Given the description of an element on the screen output the (x, y) to click on. 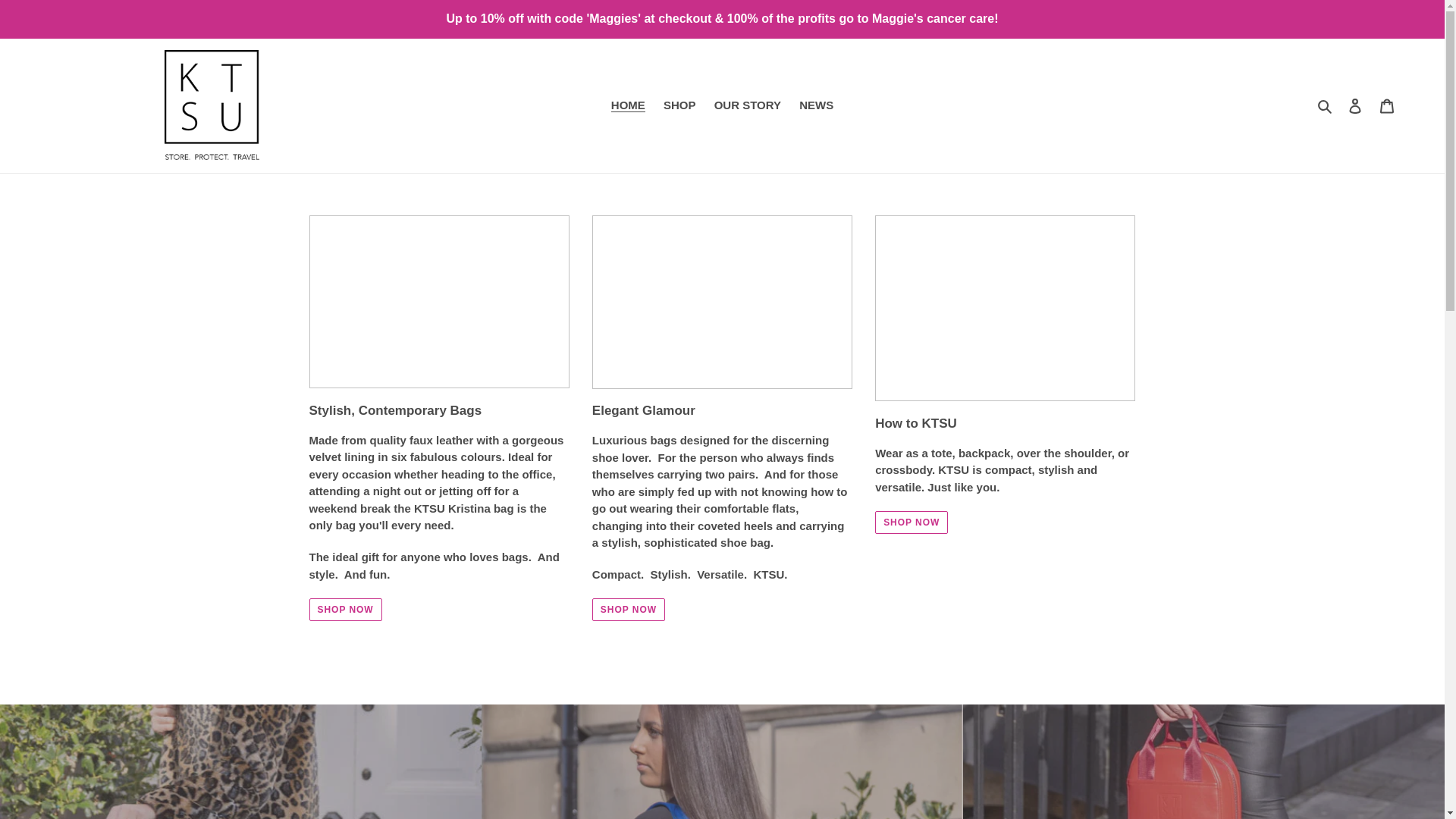
SHOP NOW (344, 609)
HOME (628, 106)
SHOP NOW (628, 609)
OUR STORY (747, 106)
SHOP NOW (911, 522)
NEWS (816, 106)
Cart (1387, 105)
SHOP (679, 106)
Search (1326, 105)
Log in (1355, 105)
